Given the description of an element on the screen output the (x, y) to click on. 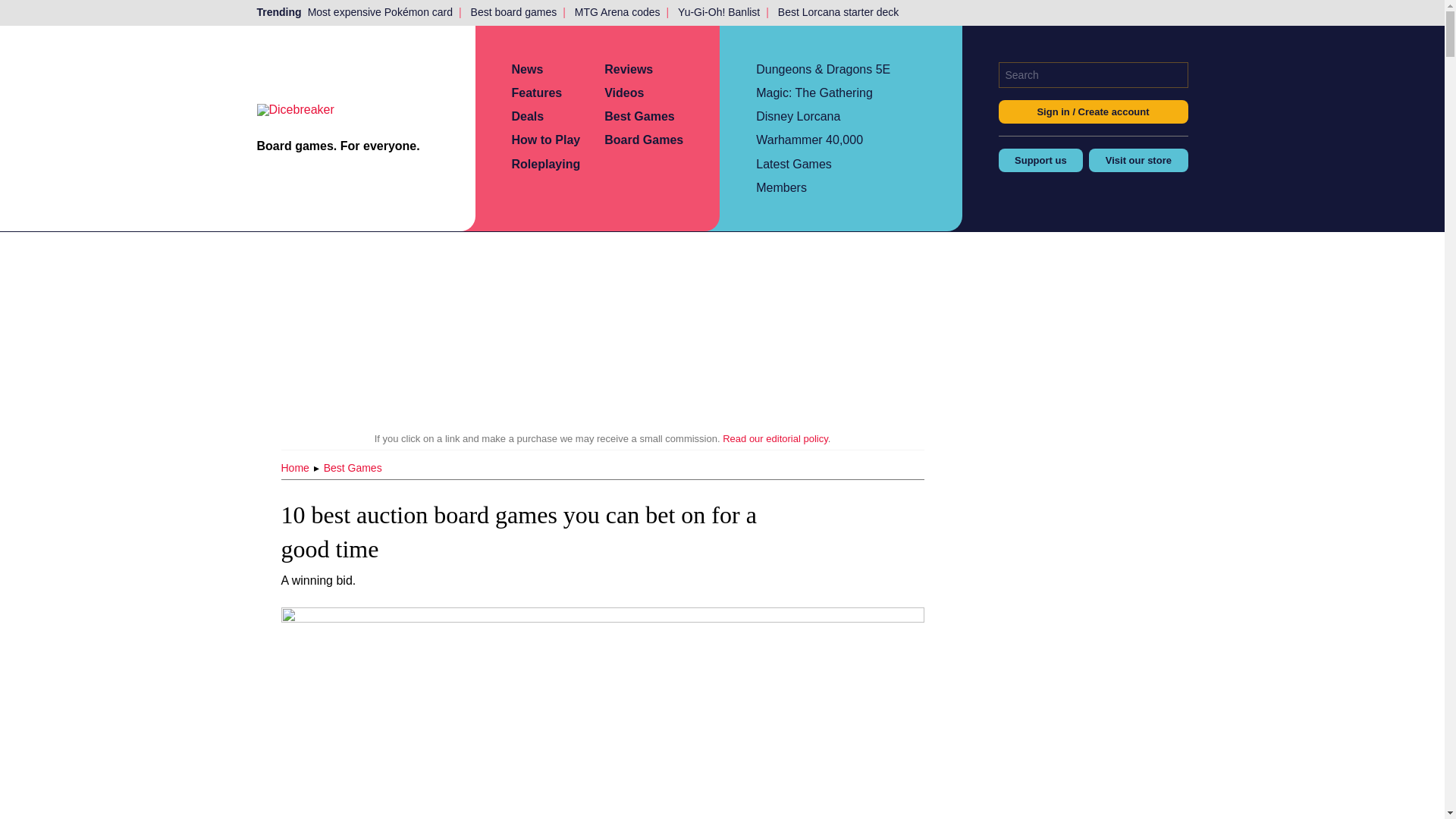
Best Lorcana starter deck (838, 12)
Members (780, 187)
Magic: The Gathering (813, 92)
MTG Arena codes (617, 12)
Board Games (643, 139)
Reviews (628, 69)
MTG Arena codes (617, 12)
Videos (623, 92)
Best board games (513, 12)
Latest Games (793, 164)
